Given the description of an element on the screen output the (x, y) to click on. 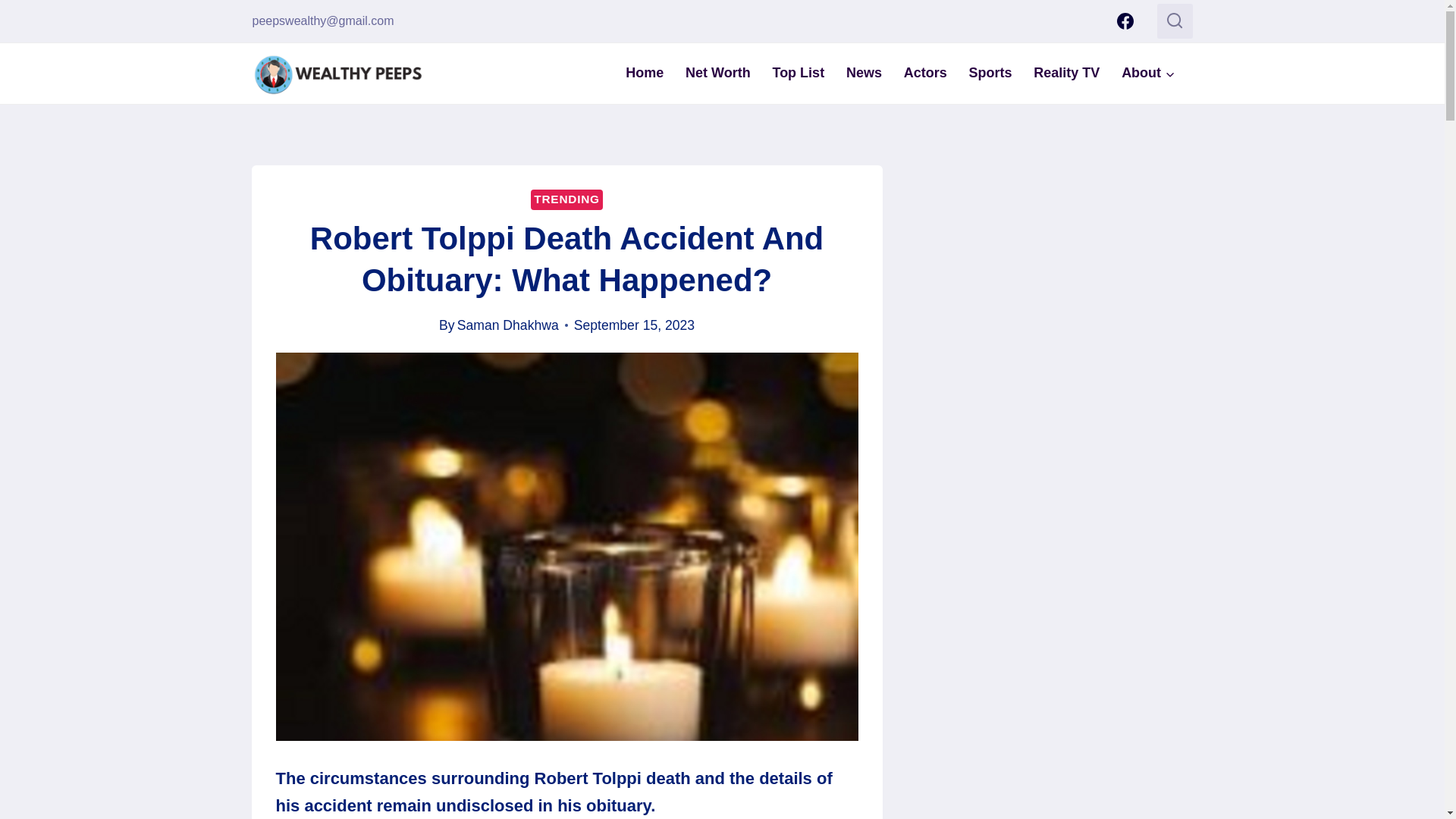
Net Worth (718, 72)
Home (644, 72)
Reality TV (1066, 72)
TRENDING (566, 199)
News (864, 72)
Sports (990, 72)
Top List (797, 72)
Saman Dhakhwa (508, 324)
Actors (925, 72)
About (1148, 72)
